Given the description of an element on the screen output the (x, y) to click on. 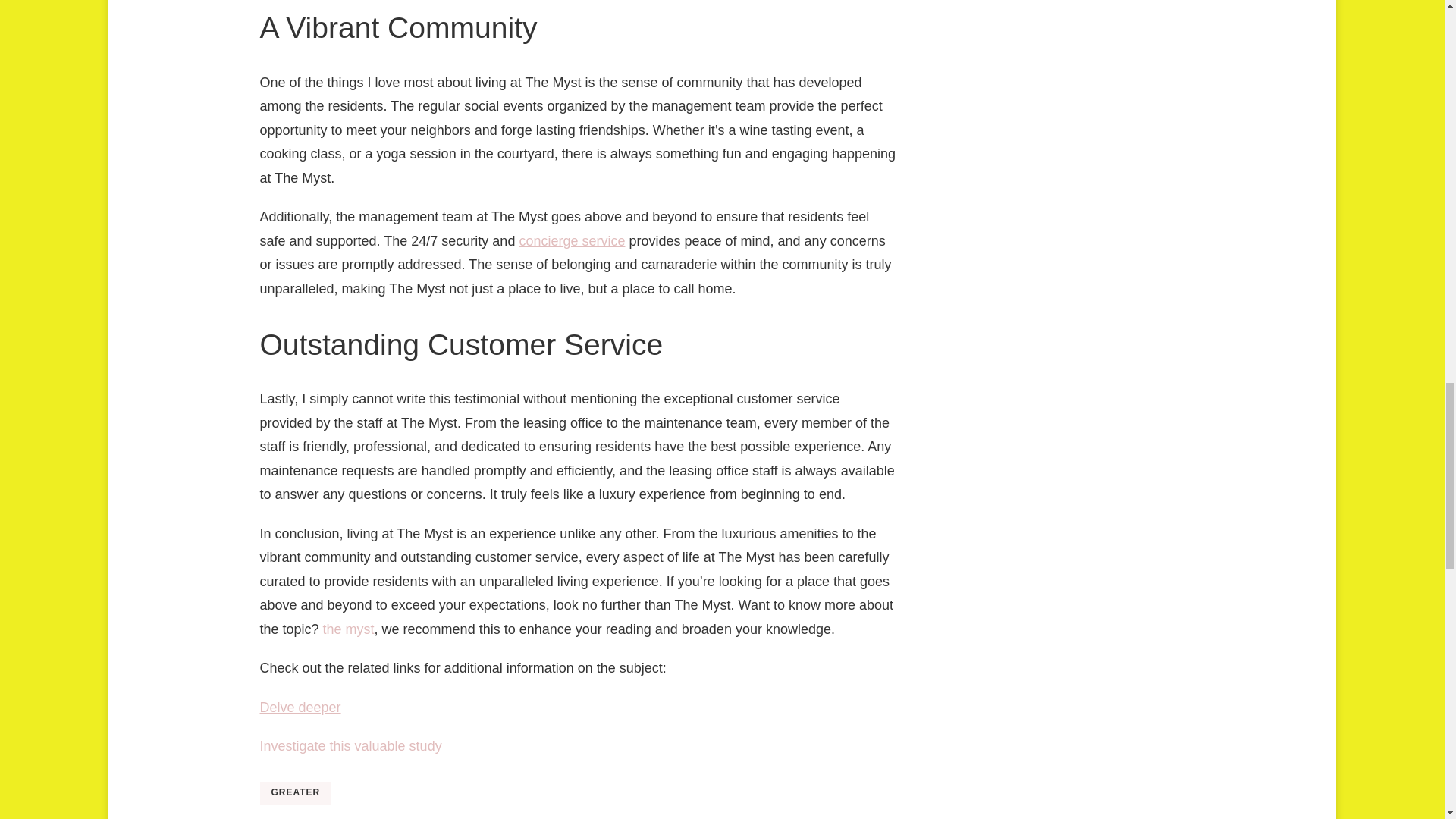
Delve deeper (299, 707)
the myst (348, 629)
concierge service (571, 240)
Investigate this valuable study (350, 745)
GREATER (295, 793)
